Given the description of an element on the screen output the (x, y) to click on. 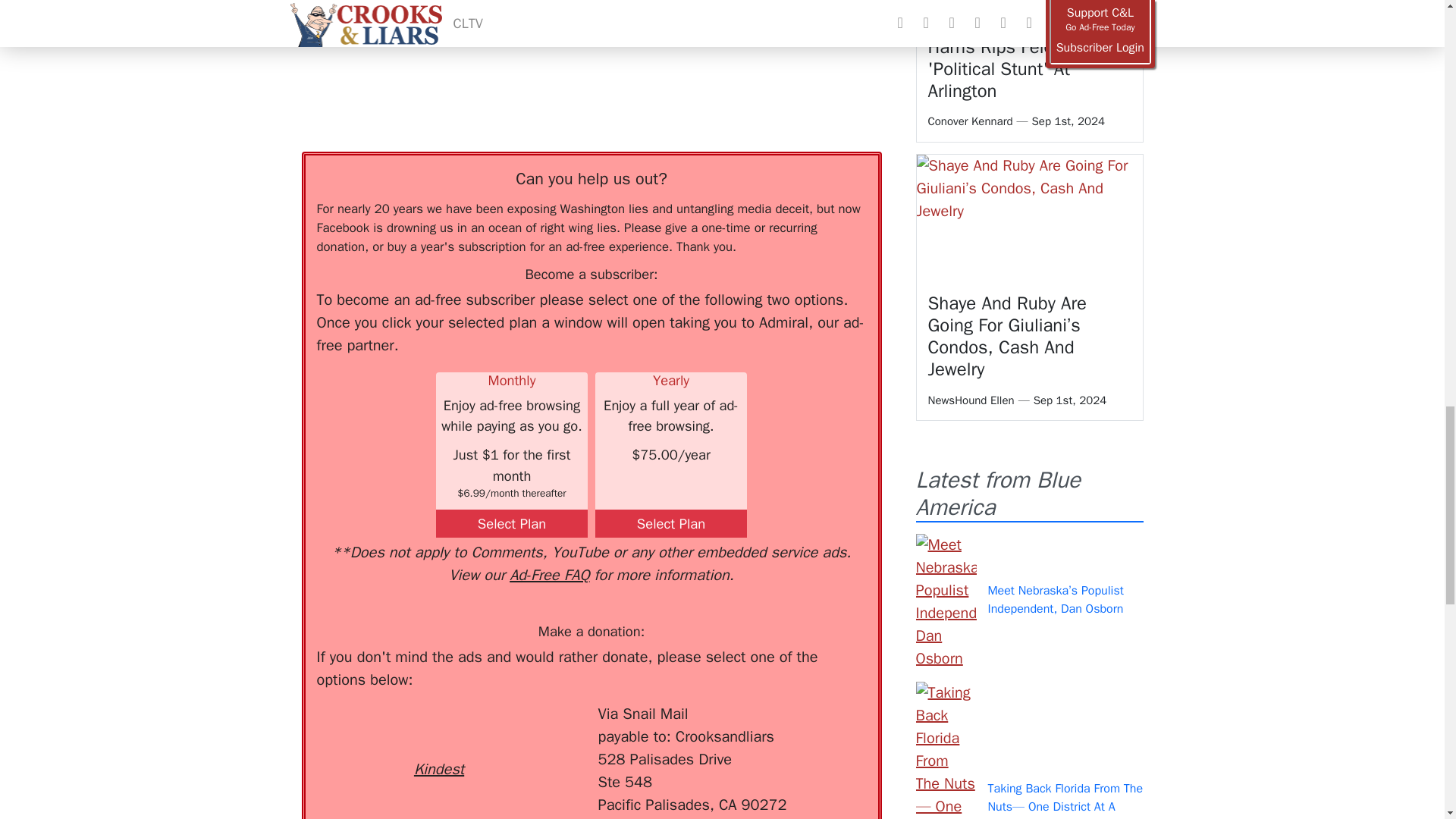
Donate via Kindest (438, 741)
Kindest (438, 741)
Donate via PayPal (540, 730)
Ad-Free FAQ (549, 574)
Donate via PayPal (540, 730)
